Given the description of an element on the screen output the (x, y) to click on. 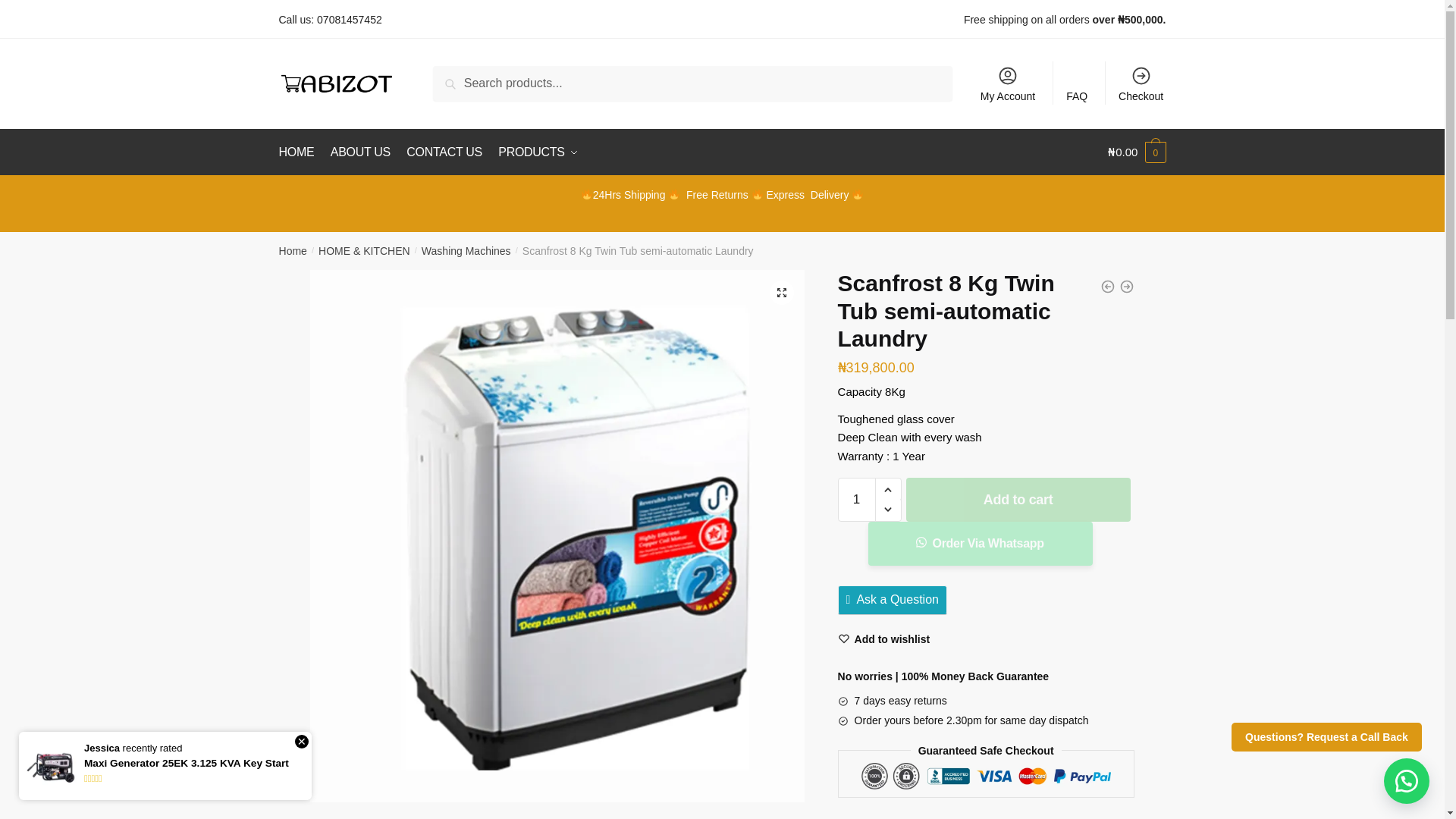
Wishlist (884, 639)
View your shopping cart (1137, 152)
My Account (1008, 83)
FAQ (1077, 83)
ABOUT US (360, 152)
HOME (299, 152)
1 (857, 499)
Checkout (1141, 83)
PRODUCTS (537, 152)
CONTACT US (443, 152)
Search (470, 83)
